Given the description of an element on the screen output the (x, y) to click on. 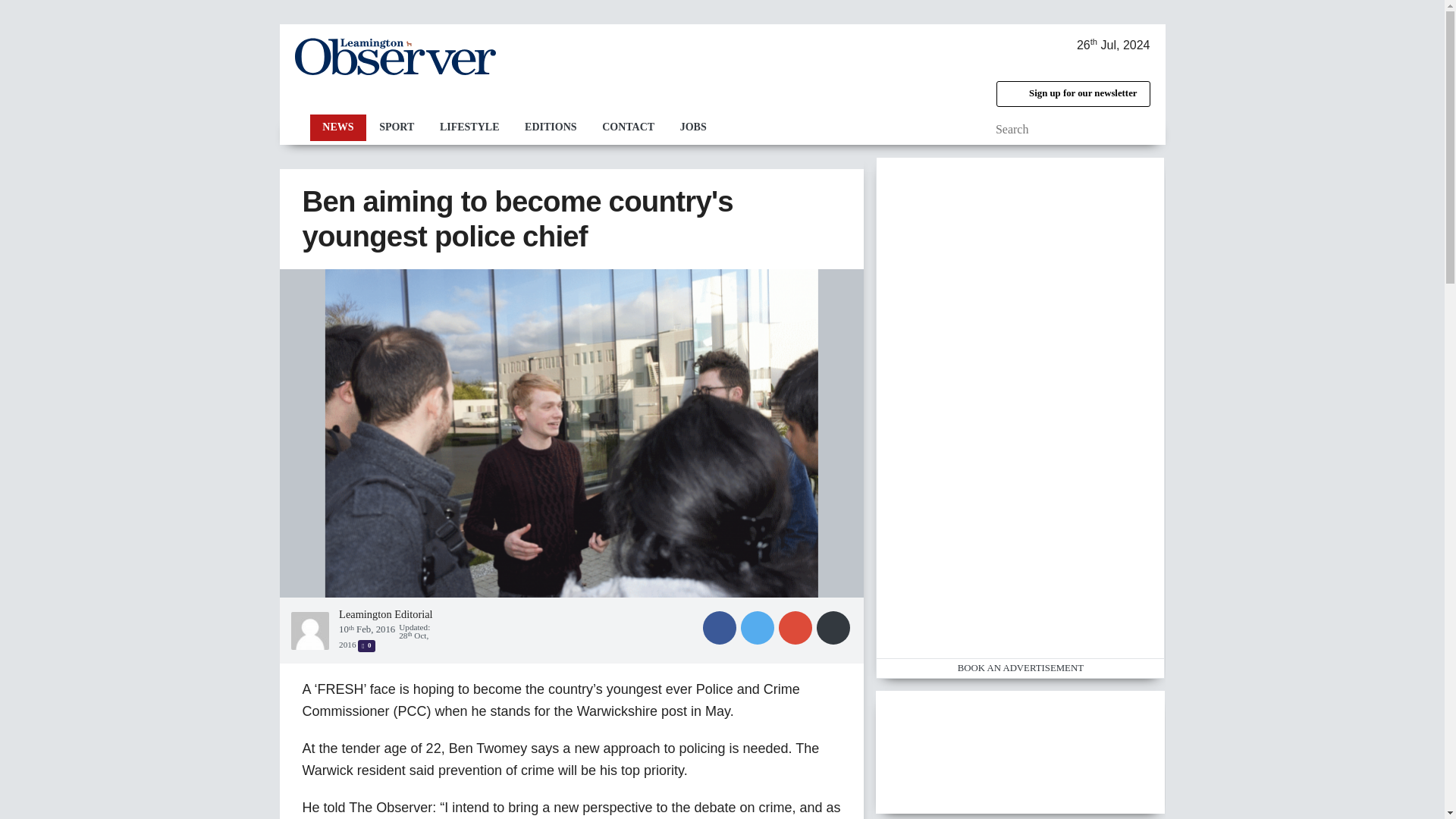
The Leamington Observer (394, 55)
JOBS (692, 127)
SPORT (396, 127)
NEWS (337, 127)
LIFESTYLE (469, 127)
  Sign up for our newsletter (1072, 94)
EDITIONS (550, 127)
CONTACT (627, 127)
